Given the description of an element on the screen output the (x, y) to click on. 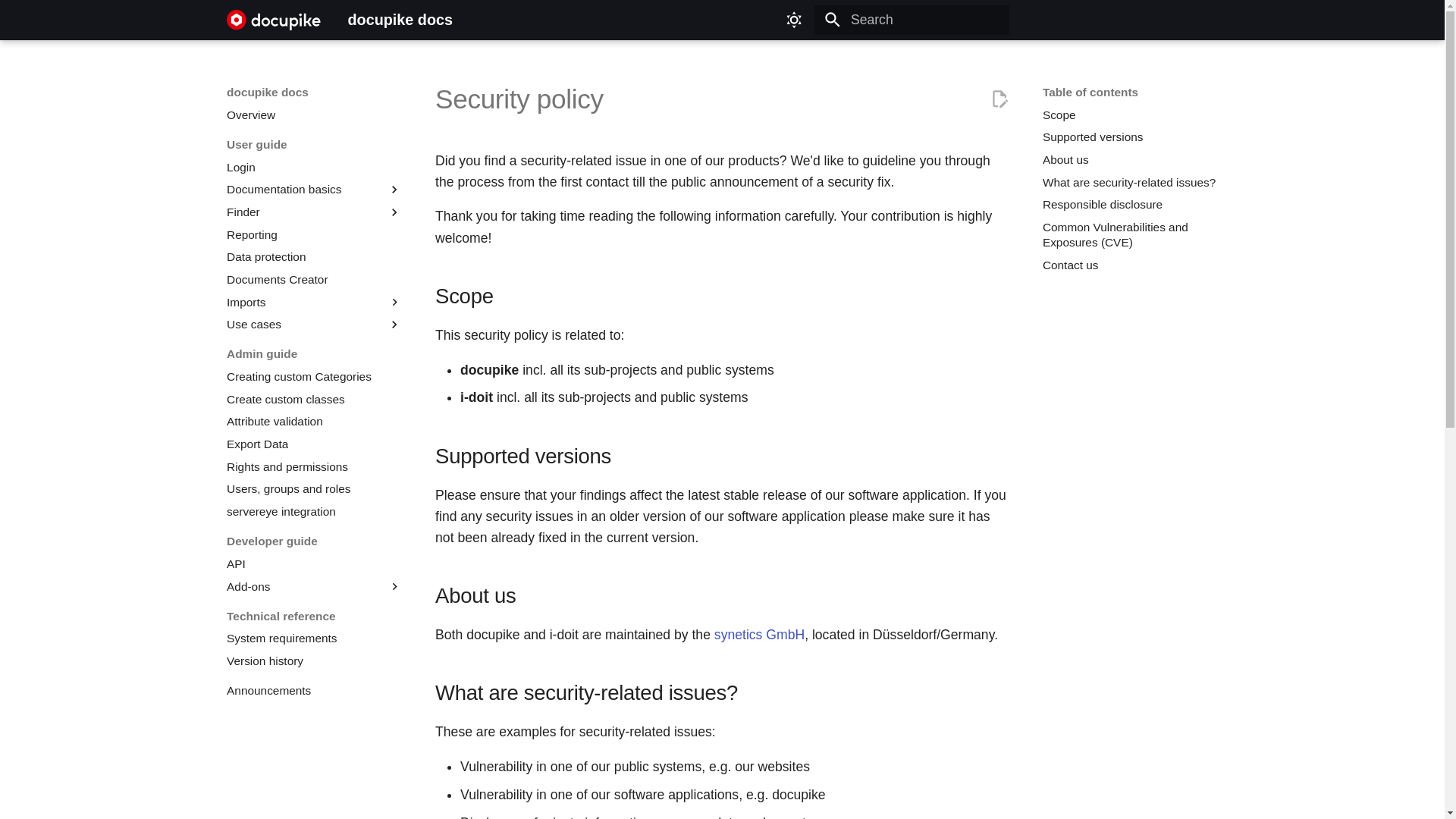
servereye integration (314, 511)
Rights and permissions (314, 467)
Edit this page (999, 98)
docupike docs (273, 19)
Reporting (314, 234)
Users, groups and roles (314, 488)
Switch to dark mode (793, 19)
Data protection (314, 256)
Overview (314, 114)
Login (314, 167)
